Given the description of an element on the screen output the (x, y) to click on. 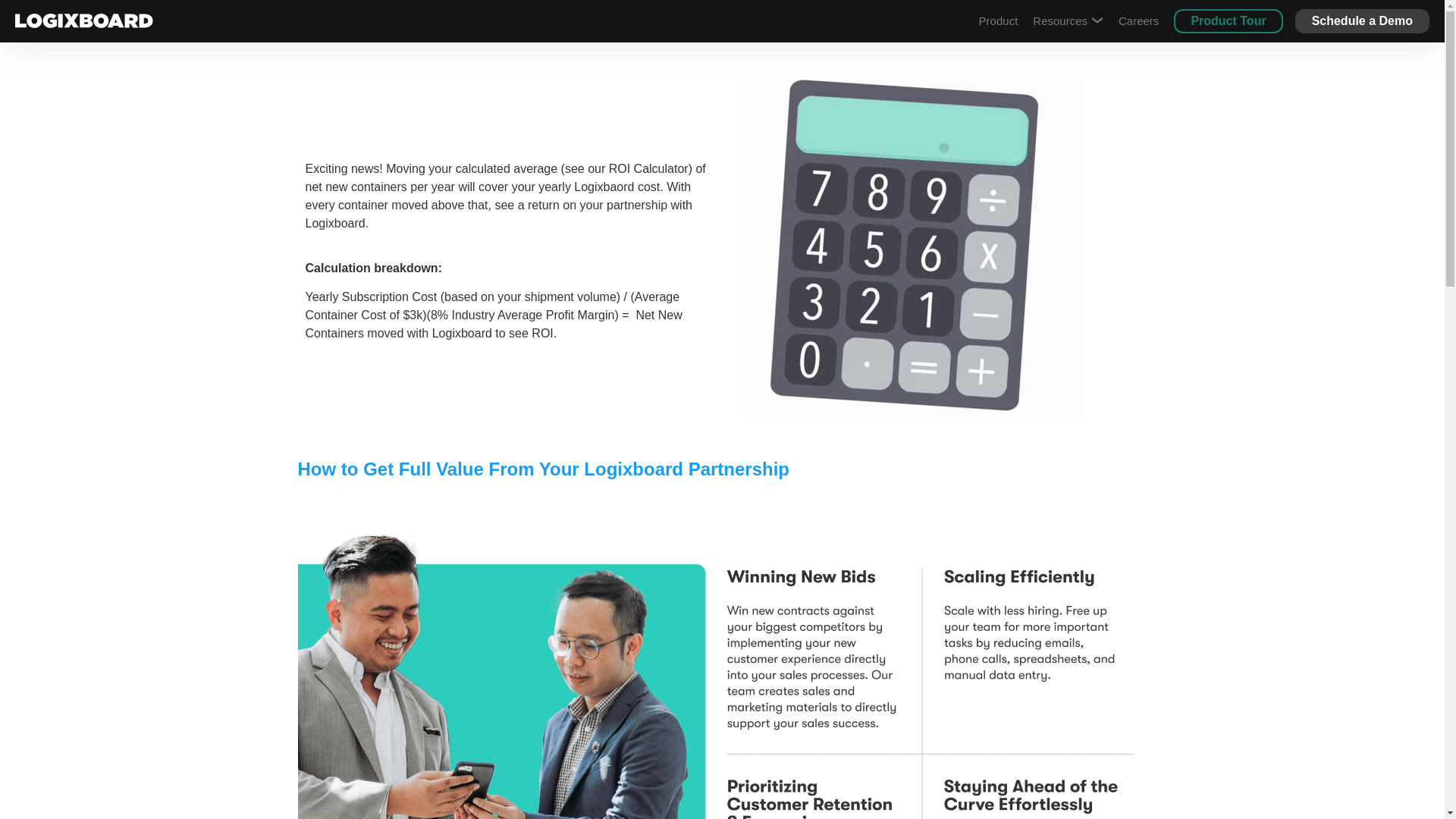
Resources (1067, 20)
Schedule a Demo (1362, 21)
Product (998, 20)
Product Tour (1227, 21)
Careers (1138, 20)
